Given the description of an element on the screen output the (x, y) to click on. 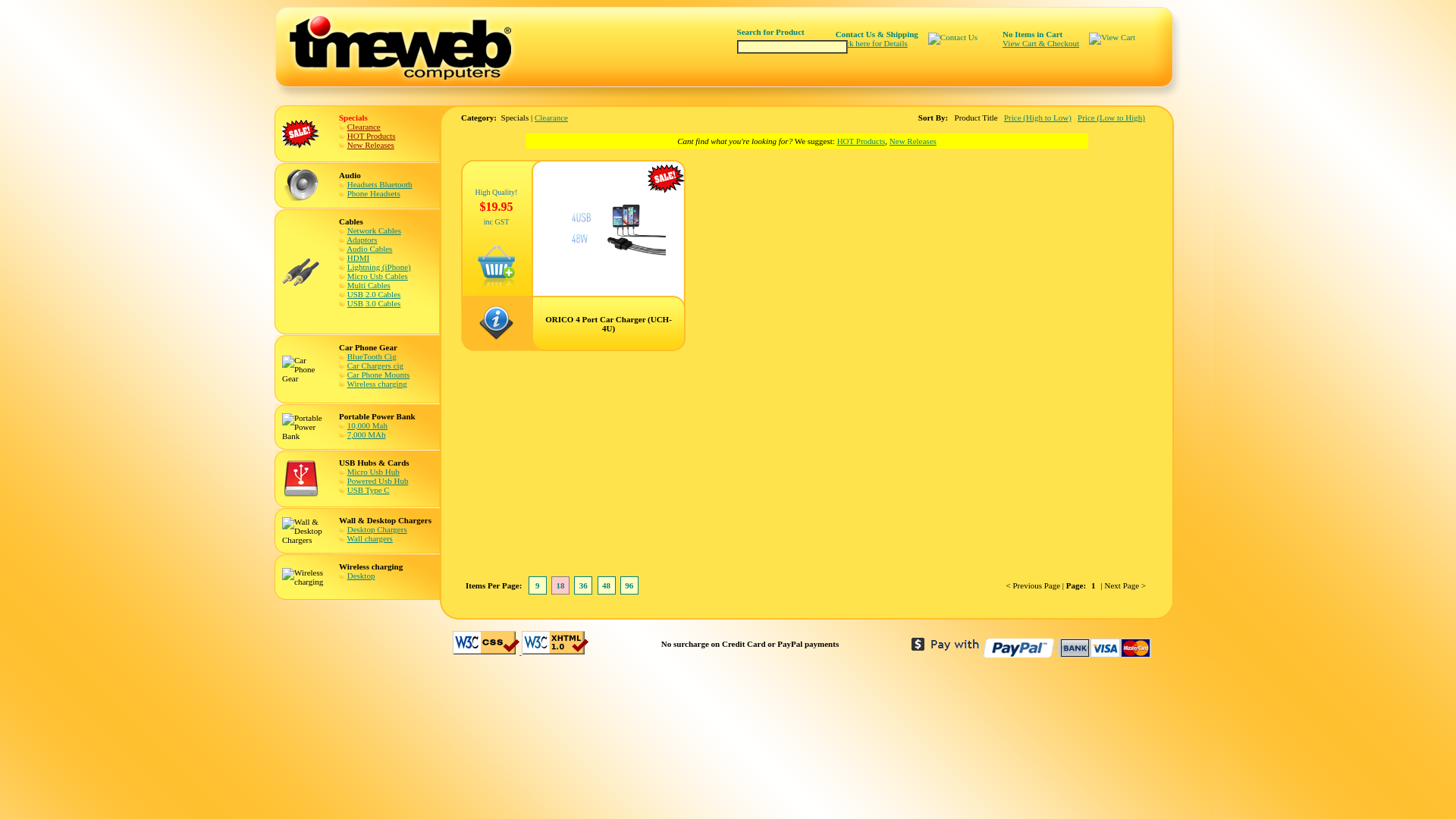
Headsets Bluetooth Element type: text (379, 183)
Price (Low to High) Element type: text (1111, 117)
Wall chargers Element type: text (369, 537)
Payment Options Element type: hover (1032, 647)
USB 3.0 Cables Element type: text (374, 302)
18 Element type: text (560, 584)
Product Title Element type: text (975, 117)
Add to Cart Element type: hover (495, 284)
< Previous Page Element type: text (1033, 584)
Next Page > Element type: text (1124, 584)
Wireless charging Element type: text (377, 383)
Network Cables Element type: text (374, 230)
Car Chargers cig Element type: text (375, 365)
Car Phone Mounts Element type: text (378, 374)
TimeWeb Computers Element type: hover (410, 45)
Product Details : ORICO 4 Port Car Charger (UCH-4U) Element type: hover (496, 337)
Clearance Element type: text (550, 117)
Car Phone Gear Element type: hover (304, 368)
Desktop Chargers Element type: text (377, 528)
USB Hubs & Cards  Element type: hover (301, 478)
Wall & Desktop Chargers Element type: hover (304, 530)
1 Element type: text (1093, 584)
Cables Element type: hover (301, 272)
Multi Cables Element type: text (368, 284)
Desktop Element type: text (361, 575)
Specials Element type: hover (301, 134)
Price (High to Low) Element type: text (1037, 117)
Phone Headsets Element type: text (373, 192)
9 Element type: text (537, 584)
Portable Power Bank Element type: hover (304, 426)
HOT Products Element type: text (861, 140)
ORICO 4 Port Car Charger (UCH-4U) Element type: hover (608, 253)
7,000 MAh Element type: text (366, 434)
Audio Cables Element type: text (369, 248)
Micro Usb Cables Element type: text (377, 275)
Powered Usb Hub Element type: text (377, 480)
36 Element type: text (583, 584)
HDMI Element type: text (358, 257)
Adaptors Element type: text (361, 239)
On Special! Element type: hover (666, 178)
Clearance Element type: text (363, 126)
HOT Products Element type: text (371, 135)
96 Element type: text (628, 584)
Audio Element type: hover (301, 185)
48 Element type: text (606, 584)
Wireless charging  Element type: hover (304, 576)
New Releases Element type: text (370, 144)
10,000 Mah Element type: text (367, 424)
Click here for Details Element type: text (871, 42)
View Cart & Checkout Element type: text (1040, 42)
Micro Usb Hub Element type: text (373, 471)
Lightning (iPhone) Element type: text (379, 266)
BlueTooth Cig Element type: text (371, 355)
New Releases Element type: text (912, 140)
USB Type C Element type: text (368, 489)
USB 2.0 Cables Element type: text (374, 293)
